Given the description of an element on the screen output the (x, y) to click on. 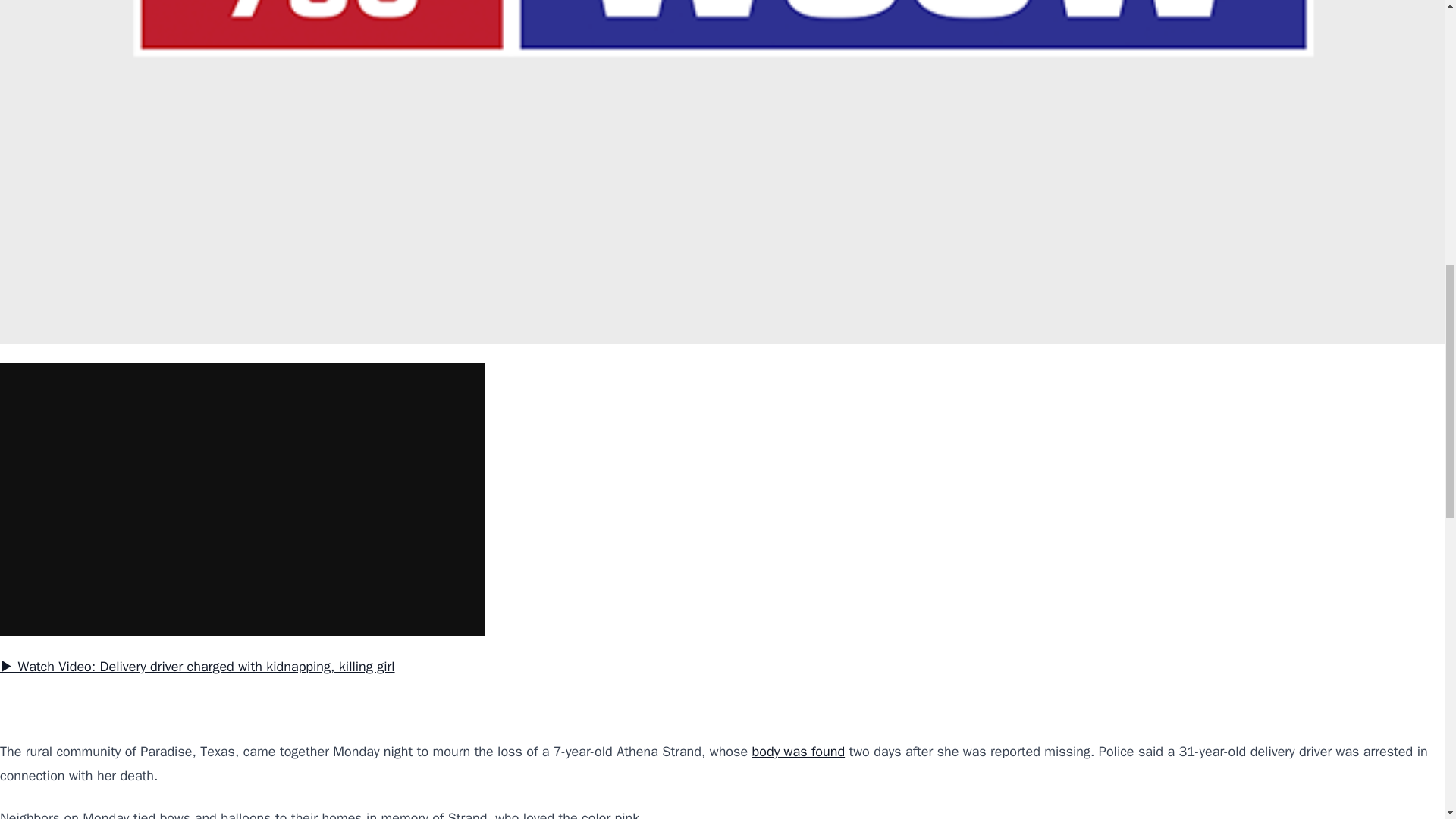
Video: fedex-driver-charged-with-kidnapping-killing-girl (242, 499)
